Given the description of an element on the screen output the (x, y) to click on. 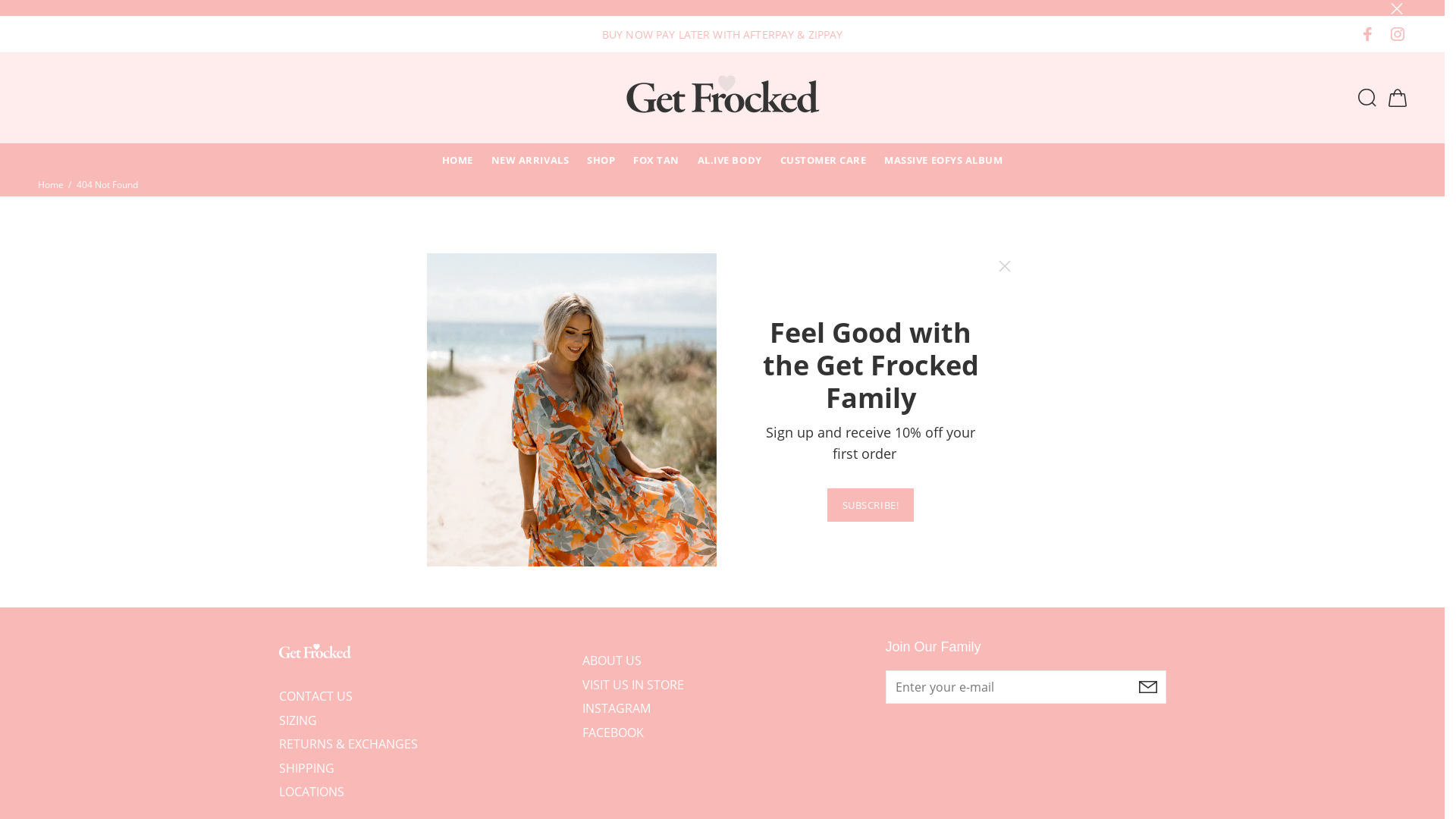
FOX TAN Element type: text (656, 159)
CUSTOMER CARE Element type: text (823, 159)
MASSIVE EOFYS ALBUM Element type: text (943, 159)
AL.IVE BODY Element type: text (729, 159)
INSTAGRAM Element type: text (616, 708)
RETURNS & EXCHANGES Element type: text (348, 744)
ABOUT US Element type: text (611, 662)
main page Element type: text (624, 485)
LOCATIONS Element type: text (311, 790)
SIZING Element type: text (297, 721)
CONTACT US Element type: text (315, 698)
SUBSCRIBE! Element type: text (870, 504)
Home Element type: text (50, 184)
SHOP Element type: text (600, 159)
HOME Element type: text (457, 159)
VISIT US IN STORE Element type: text (633, 685)
FACEBOOK Element type: text (612, 731)
NEW ARRIVALS Element type: text (529, 159)
SHIPPING Element type: text (306, 768)
